Given the description of an element on the screen output the (x, y) to click on. 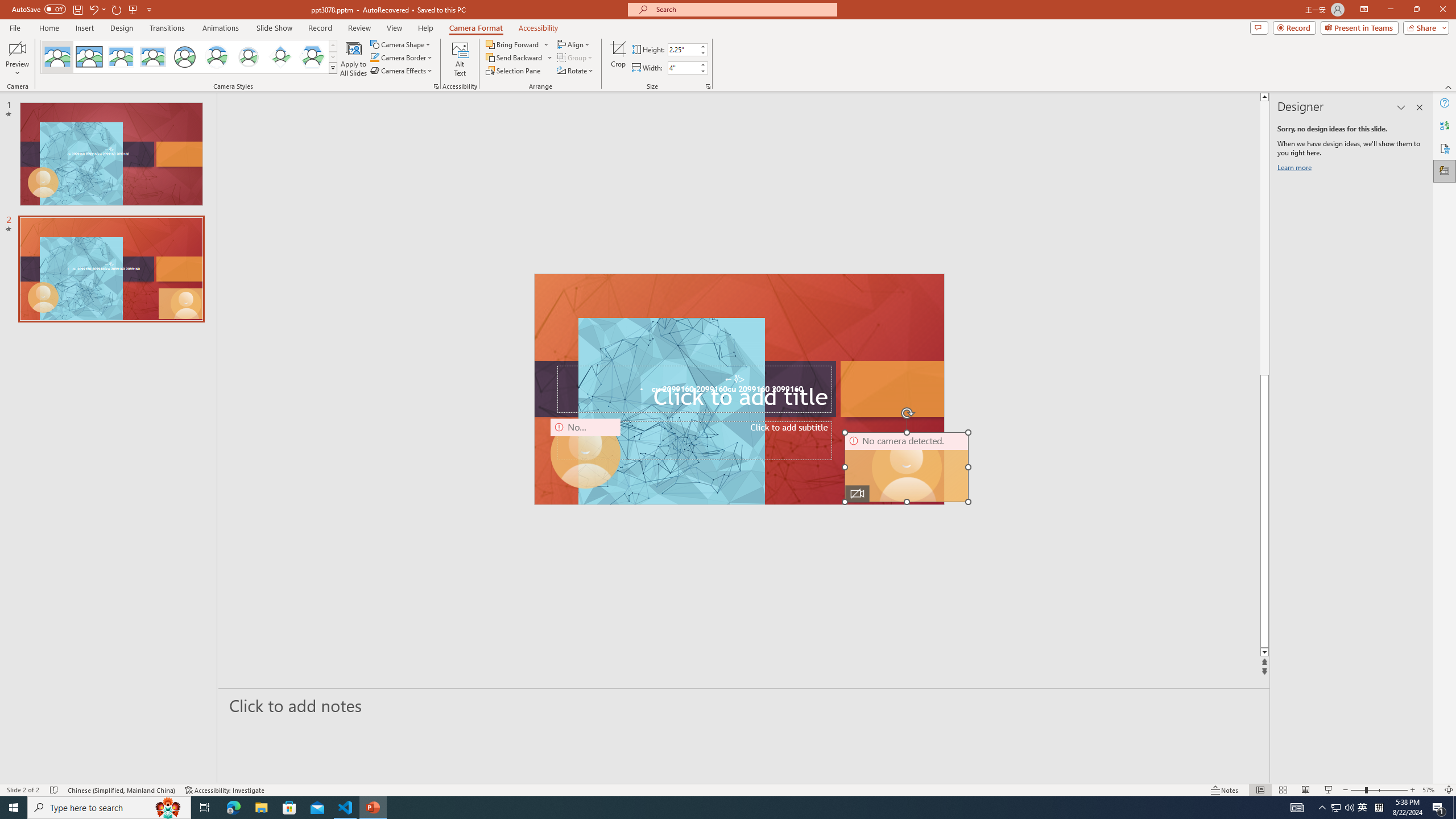
Camera 14, No camera detected. (906, 466)
